Given the description of an element on the screen output the (x, y) to click on. 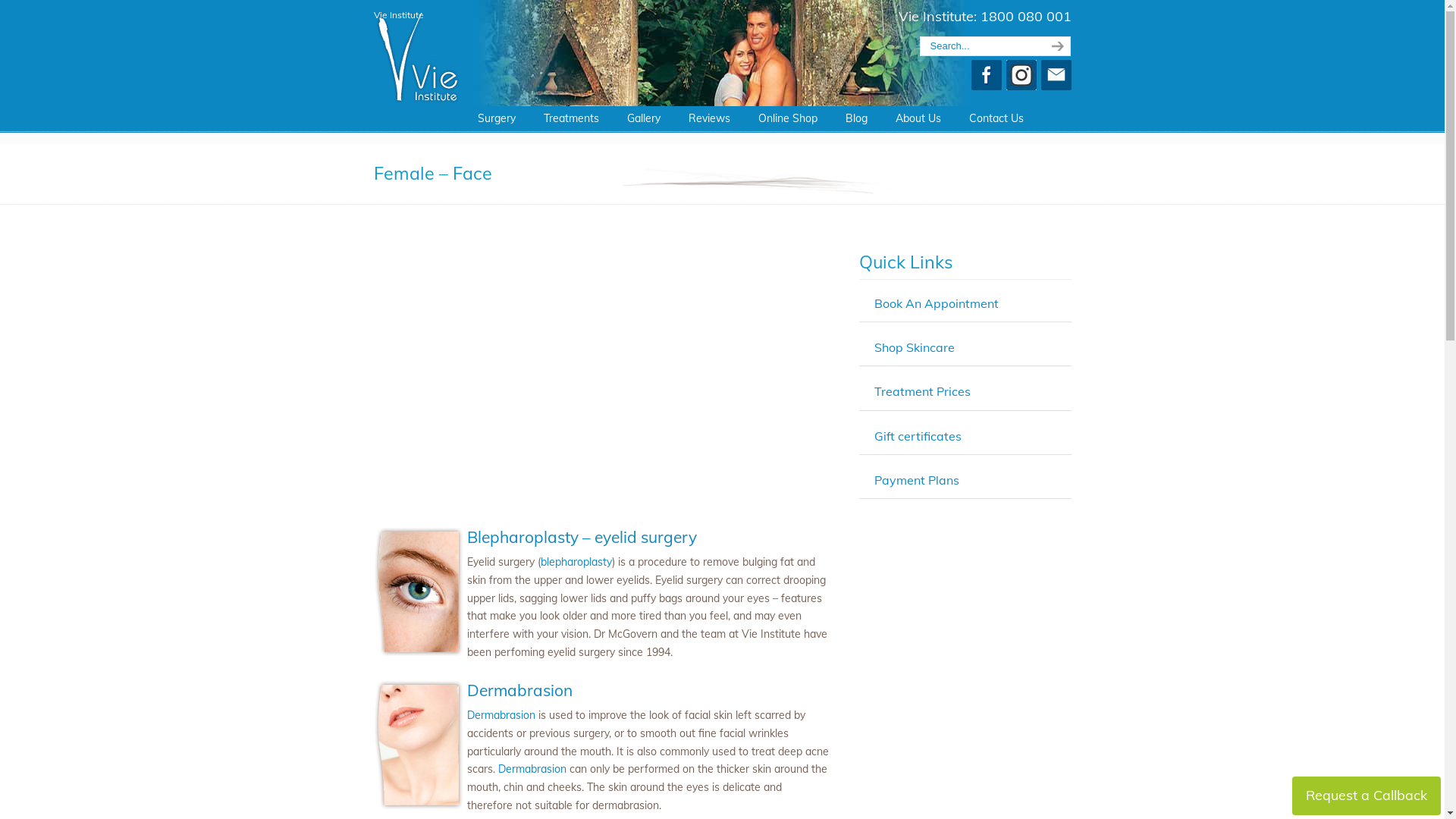
About Us Element type: text (917, 118)
Payment Plans Element type: text (915, 479)
Instagram Element type: hover (1020, 86)
Blog Element type: text (855, 118)
Gallery Element type: text (642, 118)
Request a Callback Element type: text (1366, 795)
Dermabrasion Element type: text (501, 714)
1800 080 001 Element type: text (1024, 16)
Reviews Element type: text (709, 118)
Surgery Element type: text (496, 118)
Book An Appointment Element type: text (935, 302)
Facebook Element type: hover (985, 86)
Dermabrasion Element type: text (519, 689)
E-mail Element type: hover (1055, 86)
Dermabrasion Element type: text (531, 768)
Online Shop Element type: text (787, 118)
Facial Rejuvenation at Vie Institute, Sunshine Coast Element type: hover (600, 374)
Gift certificates Element type: text (916, 435)
Treatment Prices Element type: text (921, 390)
Plastic Surgery Sunshine Coast Element type: text (417, 52)
search Element type: text (1055, 46)
Treatments Element type: text (570, 118)
blepharoplasty Element type: text (575, 561)
Shop Skincare Element type: text (913, 346)
Contact Us Element type: text (995, 118)
